Given the description of an element on the screen output the (x, y) to click on. 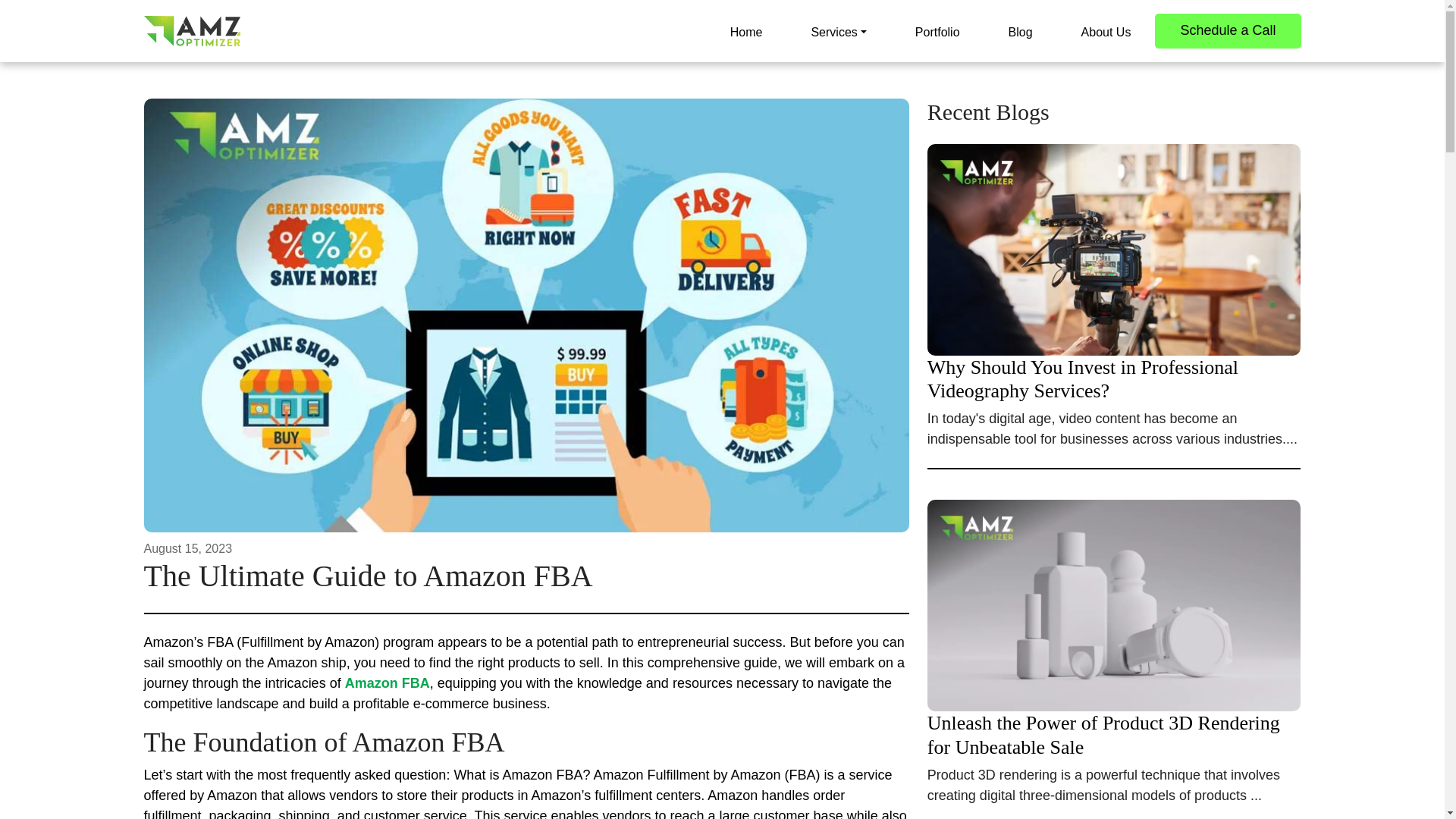
Blog (1020, 30)
Services (837, 30)
Amazon FBA (387, 683)
Portfolio (937, 30)
Schedule a Call (1227, 30)
Why Should You Invest in Professional Videography Services? (1114, 322)
About Us (1105, 30)
Home (745, 30)
